Given the description of an element on the screen output the (x, y) to click on. 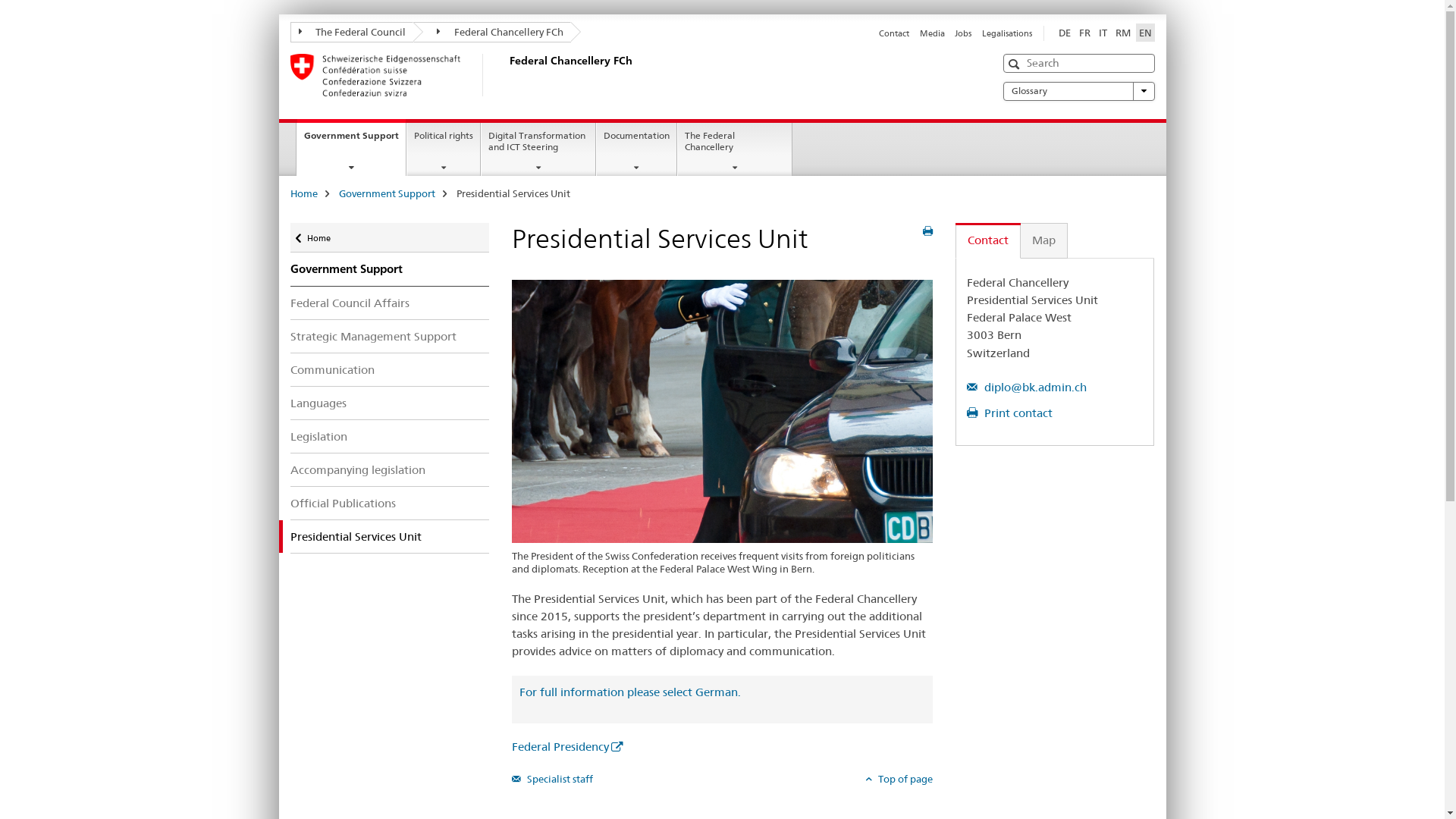
Legislation Element type: text (389, 436)
Media Element type: text (931, 33)
The Federal Council Element type: text (351, 31)
Specialist staff Element type: text (552, 778)
Accompanying legislation Element type: text (389, 469)
Government Support
current page Element type: text (351, 147)
Strategic Management Support Element type: text (389, 336)
Federal Chancellery FCh Element type: text (505, 74)
DE Element type: text (1064, 32)
Contact Element type: text (893, 33)
IT Element type: text (1102, 32)
RM Element type: text (1121, 32)
Home Element type: text (302, 193)
Print this page Element type: hover (927, 230)
Federal Council Affairs Element type: text (389, 302)
Languages Element type: text (389, 402)
Print contact Element type: text (1009, 412)
Communication Element type: text (389, 369)
Contact Element type: text (987, 240)
Federal Presidency Element type: text (566, 746)
diplo@bk.admin.ch Element type: text (1026, 386)
EN Element type: text (1144, 32)
The Federal Chancellery Element type: text (734, 148)
Political rights Element type: text (443, 148)
Official Publications Element type: text (389, 502)
For full information please select German. Element type: text (629, 691)
Government Support Element type: text (389, 268)
Map Element type: text (1043, 240)
FR Element type: text (1083, 32)
Top of page Element type: text (899, 778)
Jobs Element type: text (962, 33)
Digital Transformation and ICT Steering Element type: text (538, 148)
Back
Home Element type: text (389, 237)
Federal Chancellery FCh Element type: text (492, 31)
Government Support Element type: text (386, 193)
Documentation Element type: text (636, 148)
Glossary Element type: text (1078, 90)
Legalisations Element type: text (1006, 33)
